Given the description of an element on the screen output the (x, y) to click on. 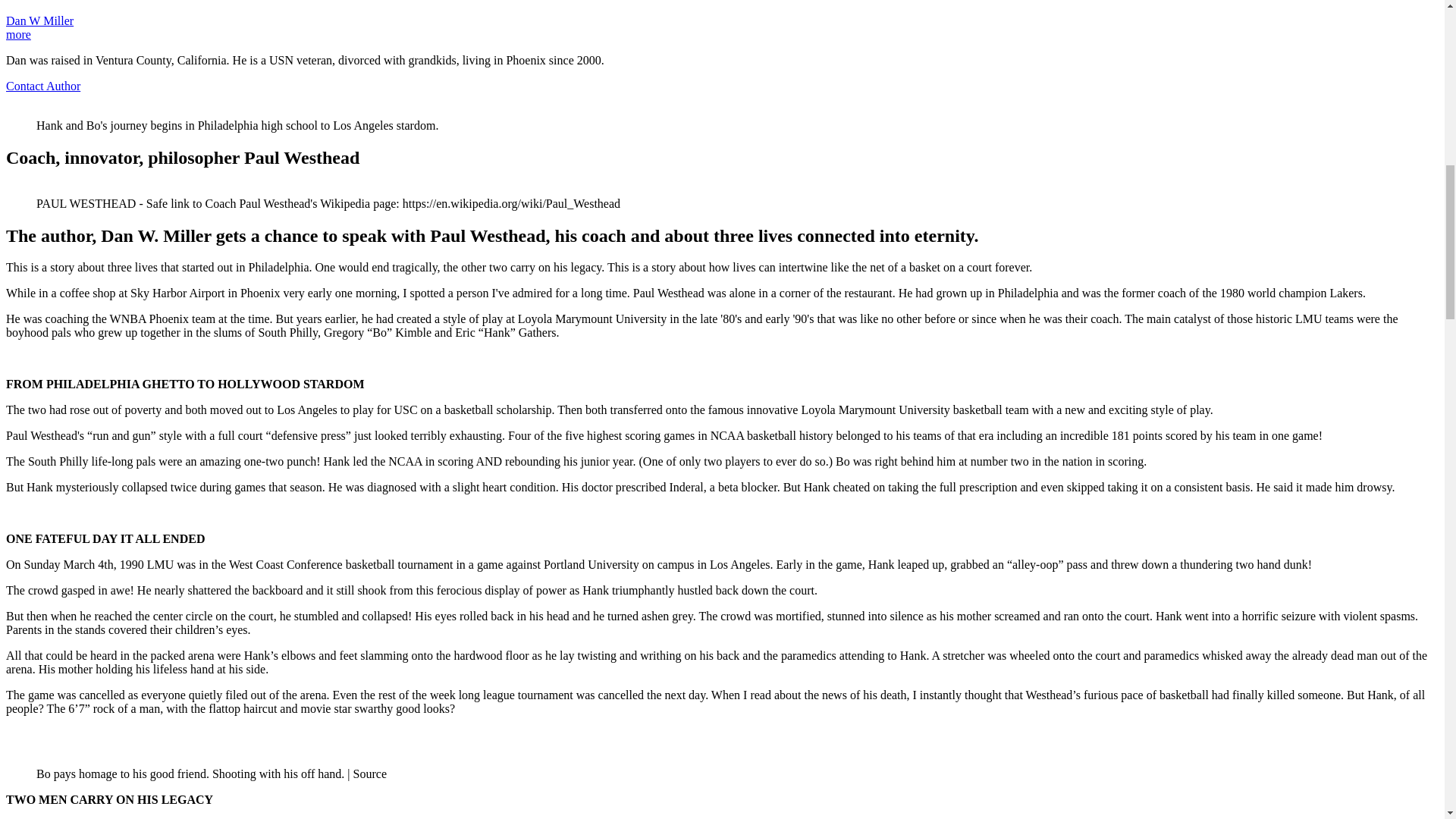
Contact Author (42, 85)
